Given the description of an element on the screen output the (x, y) to click on. 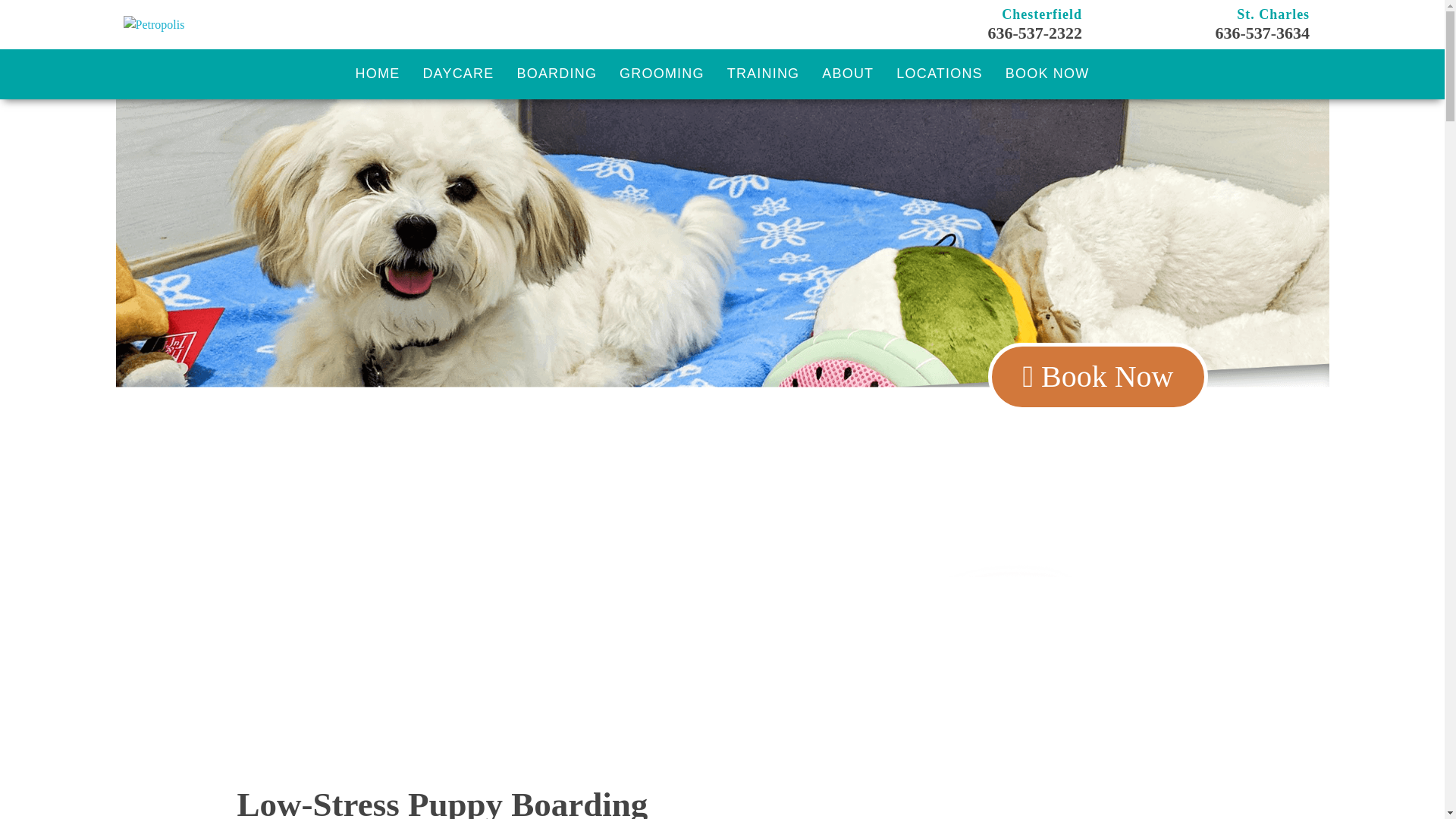
St. Charles (1272, 14)
TRAINING (763, 74)
636-537-3634 (1261, 32)
LOCATIONS (938, 74)
BOOK NOW (1047, 74)
HOME (377, 74)
new logo (153, 24)
Chesterfield (1041, 14)
GROOMING (662, 74)
636-537-2322 (1034, 32)
